Given the description of an element on the screen output the (x, y) to click on. 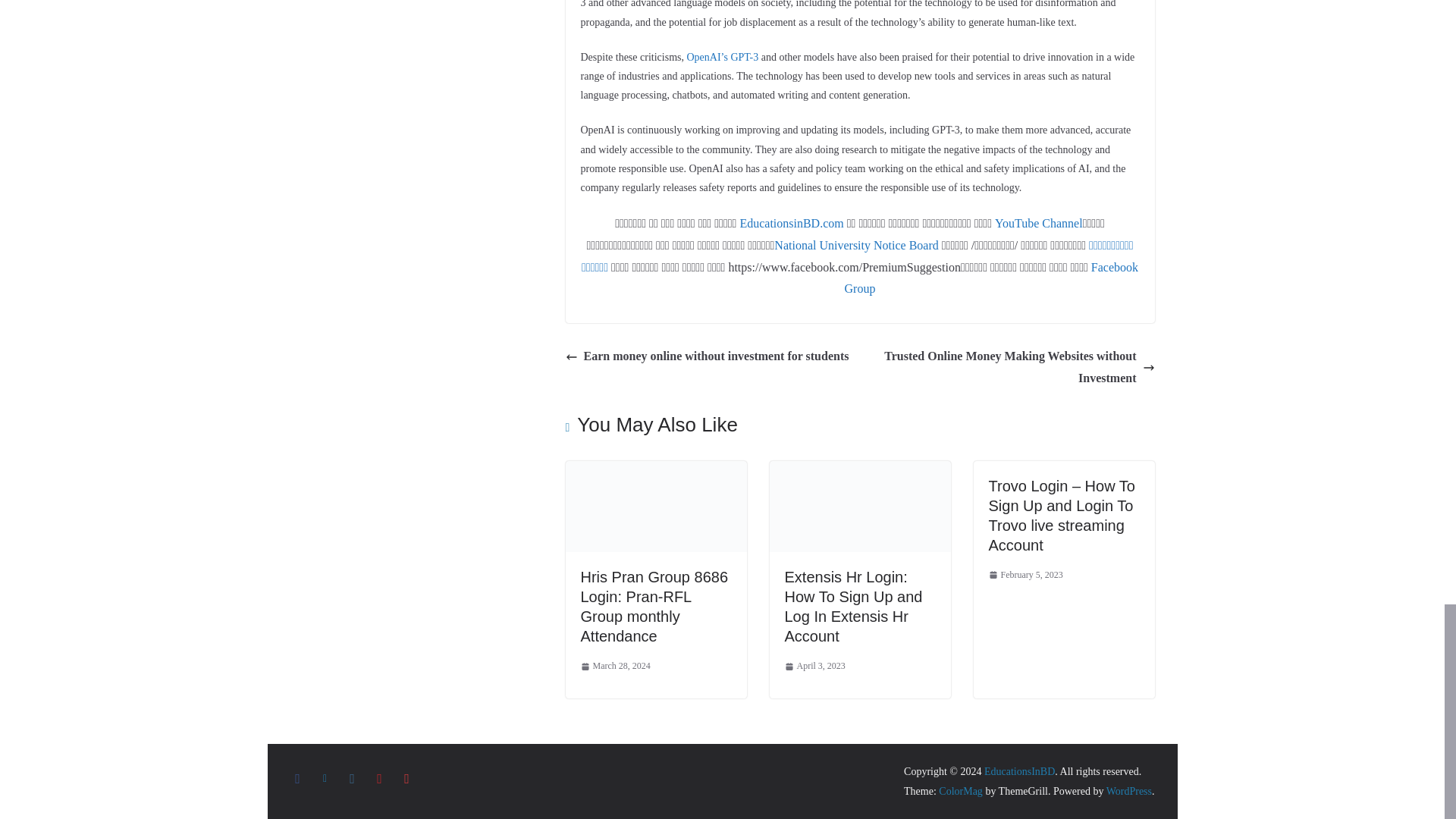
Facebook Group (991, 278)
April 3, 2023 (814, 666)
11:05 PM (814, 666)
10:13 AM (615, 666)
Trusted Online Money Making Websites without Investment (1010, 367)
